Given the description of an element on the screen output the (x, y) to click on. 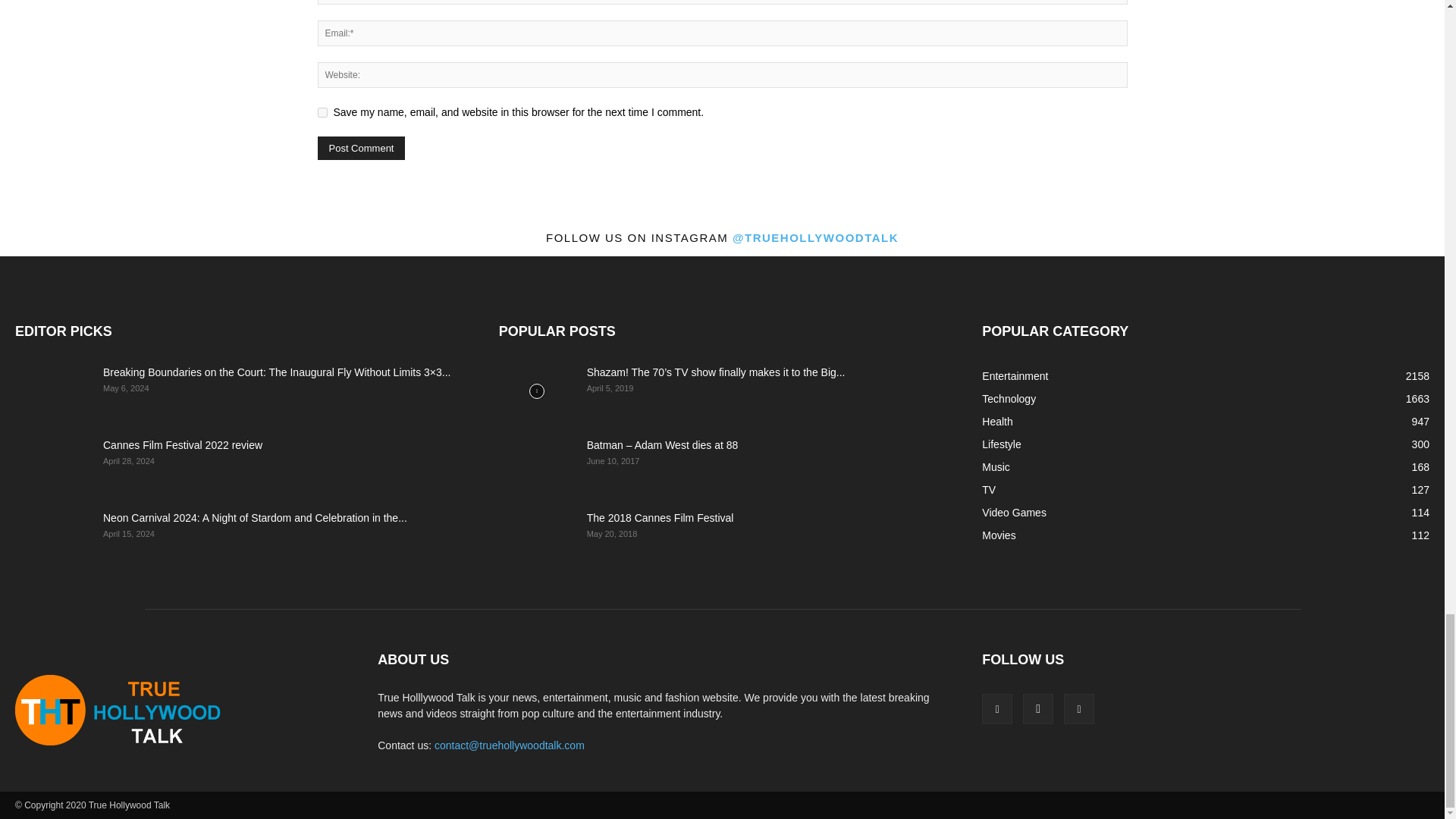
yes (321, 112)
Post Comment (360, 147)
